Given the description of an element on the screen output the (x, y) to click on. 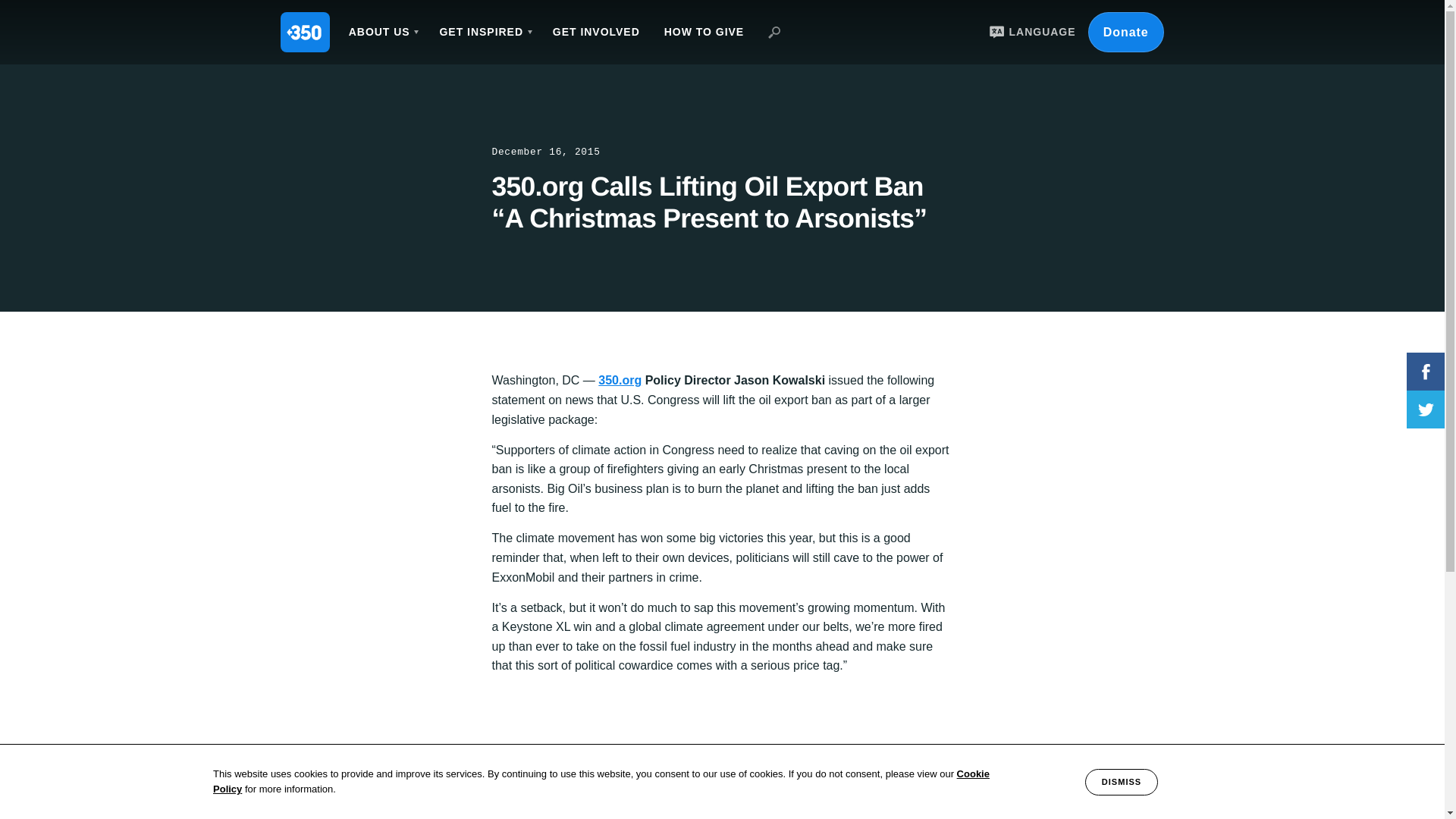
350 Africa (427, 814)
Donate (1125, 32)
350.org (620, 379)
ABOUT US (382, 32)
HOW TO GIVE (703, 32)
350 (305, 32)
GET INVOLVED (596, 32)
350.org (352, 814)
LANGUAGE (1029, 32)
GET INSPIRED (483, 32)
